Given the description of an element on the screen output the (x, y) to click on. 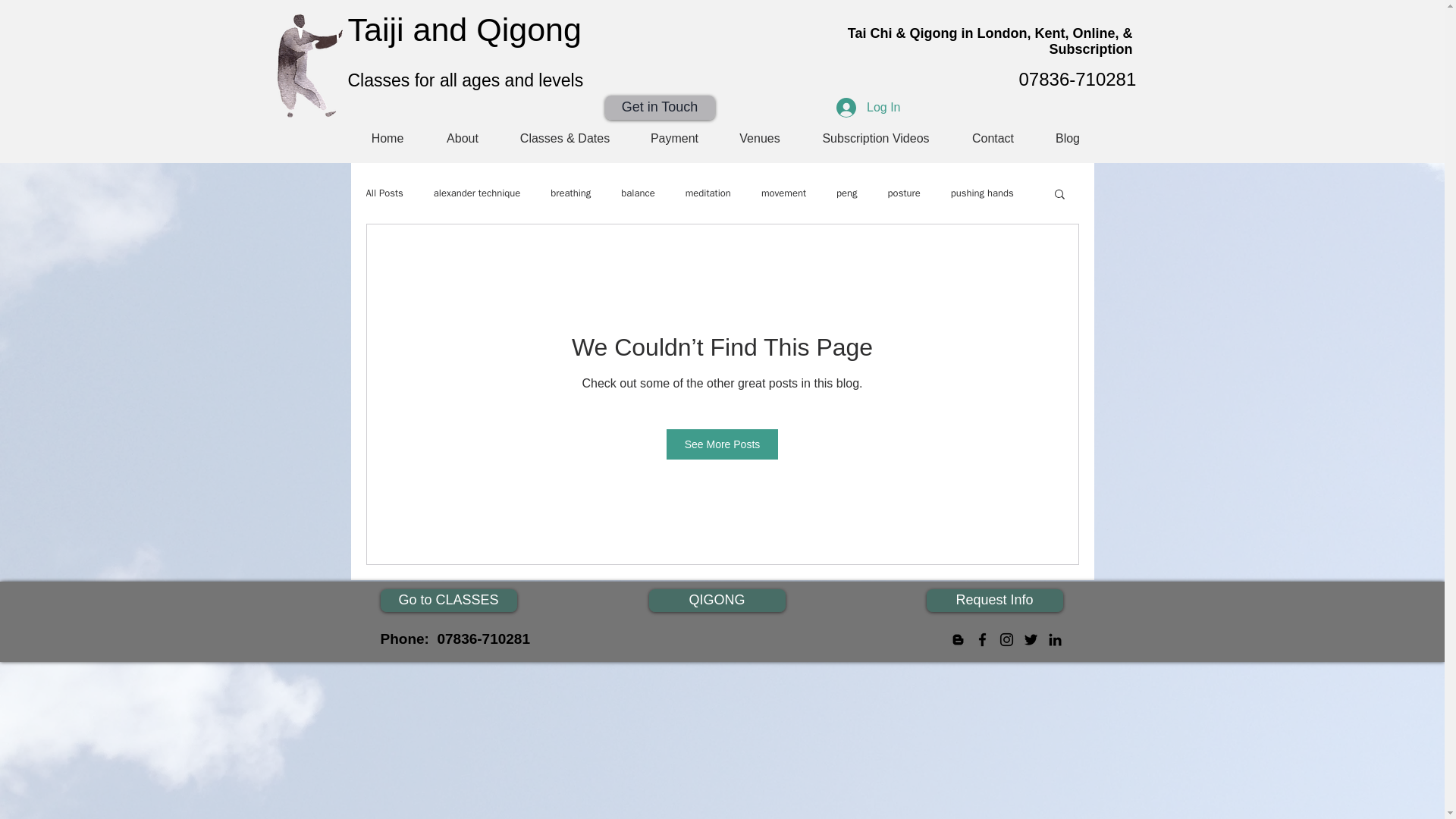
All Posts (384, 192)
breathing (570, 192)
Log In (868, 107)
alexander technique (476, 192)
Taiji and (411, 29)
07836-710281 (1078, 78)
Home (387, 138)
Venues (759, 138)
Payment (673, 138)
Classes for all ages and levels (465, 80)
